Given the description of an element on the screen output the (x, y) to click on. 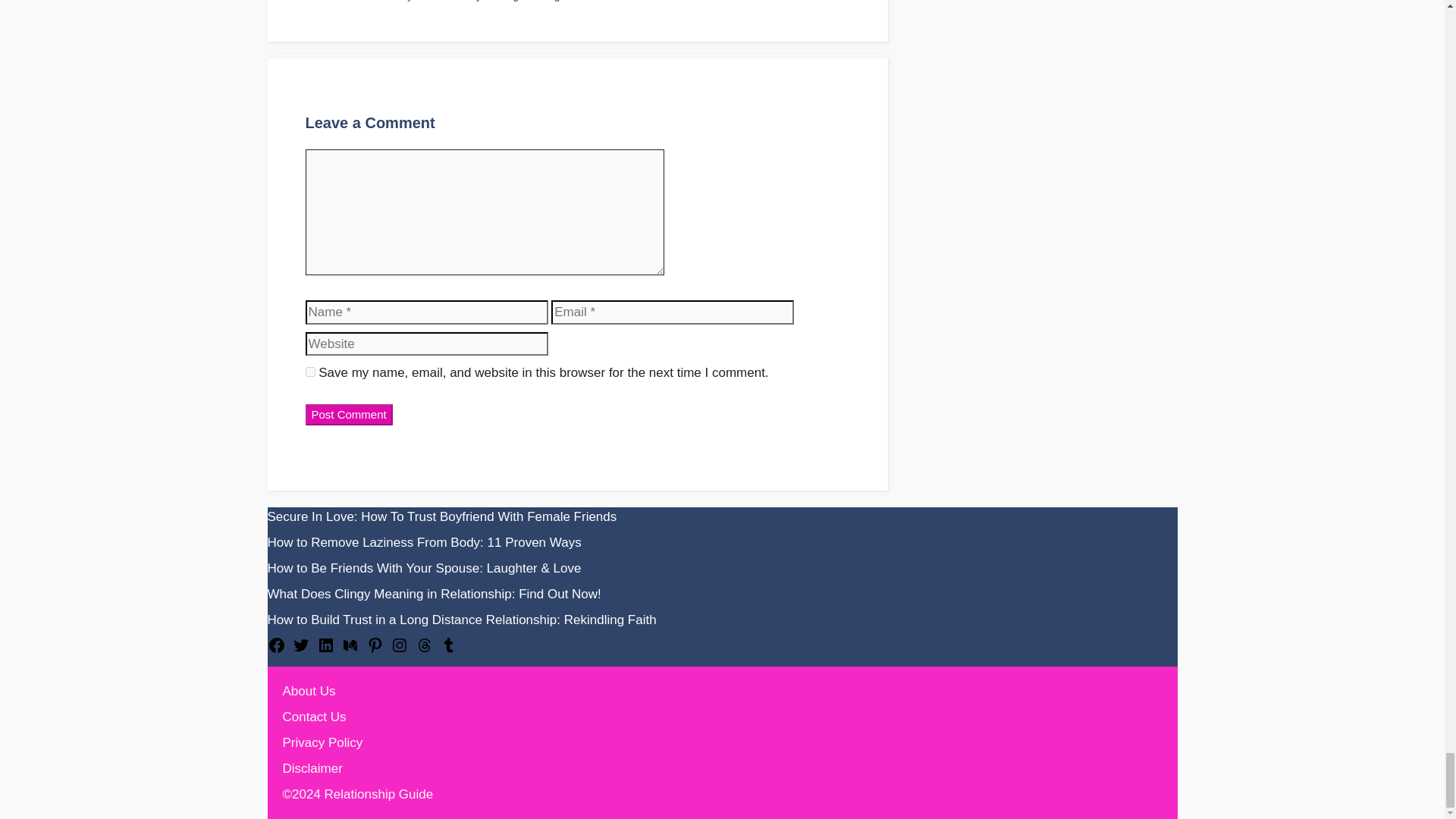
Post Comment (347, 414)
yes (309, 371)
